Given the description of an element on the screen output the (x, y) to click on. 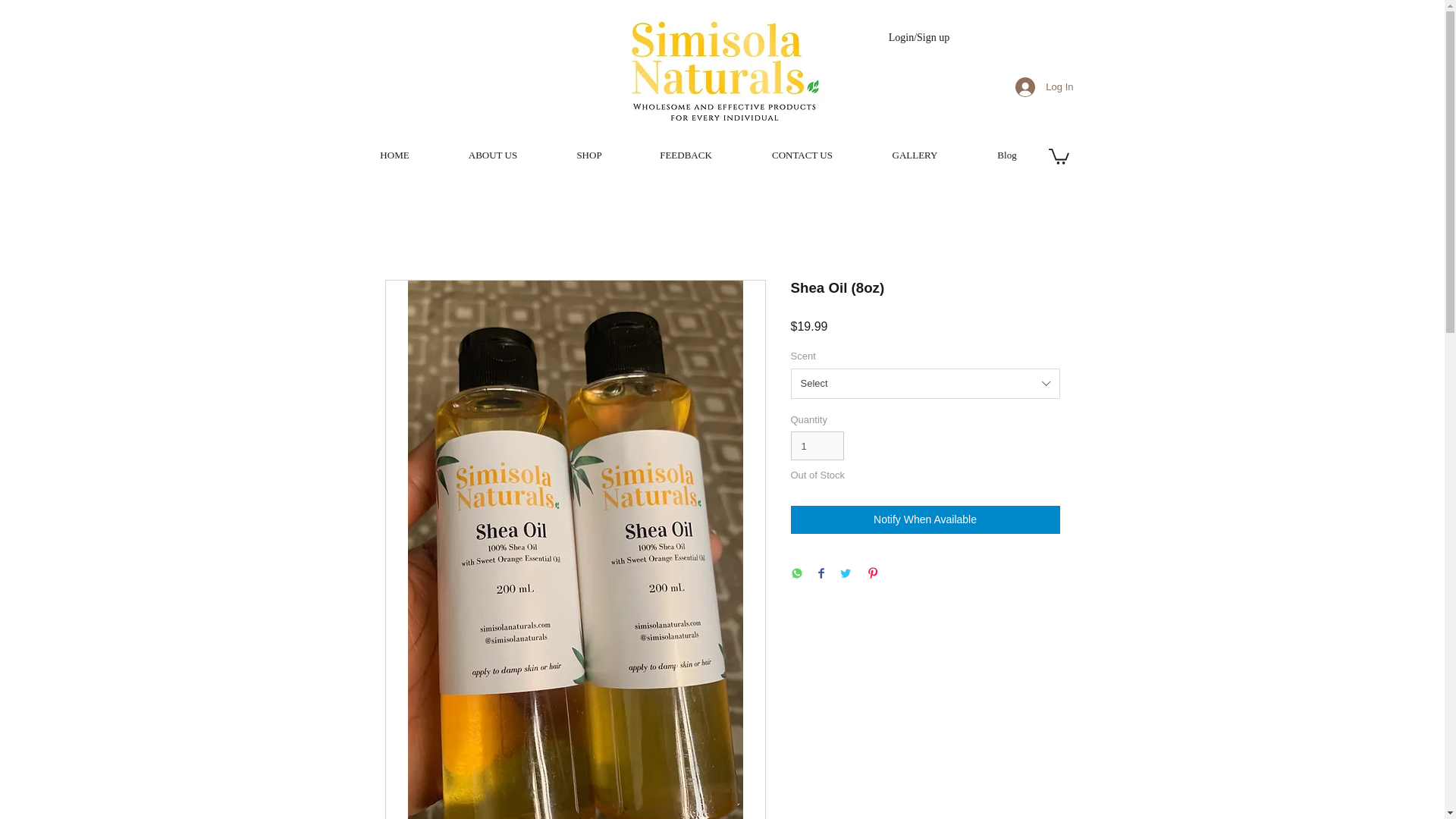
HOME (394, 154)
1 (817, 445)
Select (924, 383)
Log In (1043, 86)
Notify When Available (924, 519)
CONTACT US (801, 154)
Blog (1007, 154)
